Given the description of an element on the screen output the (x, y) to click on. 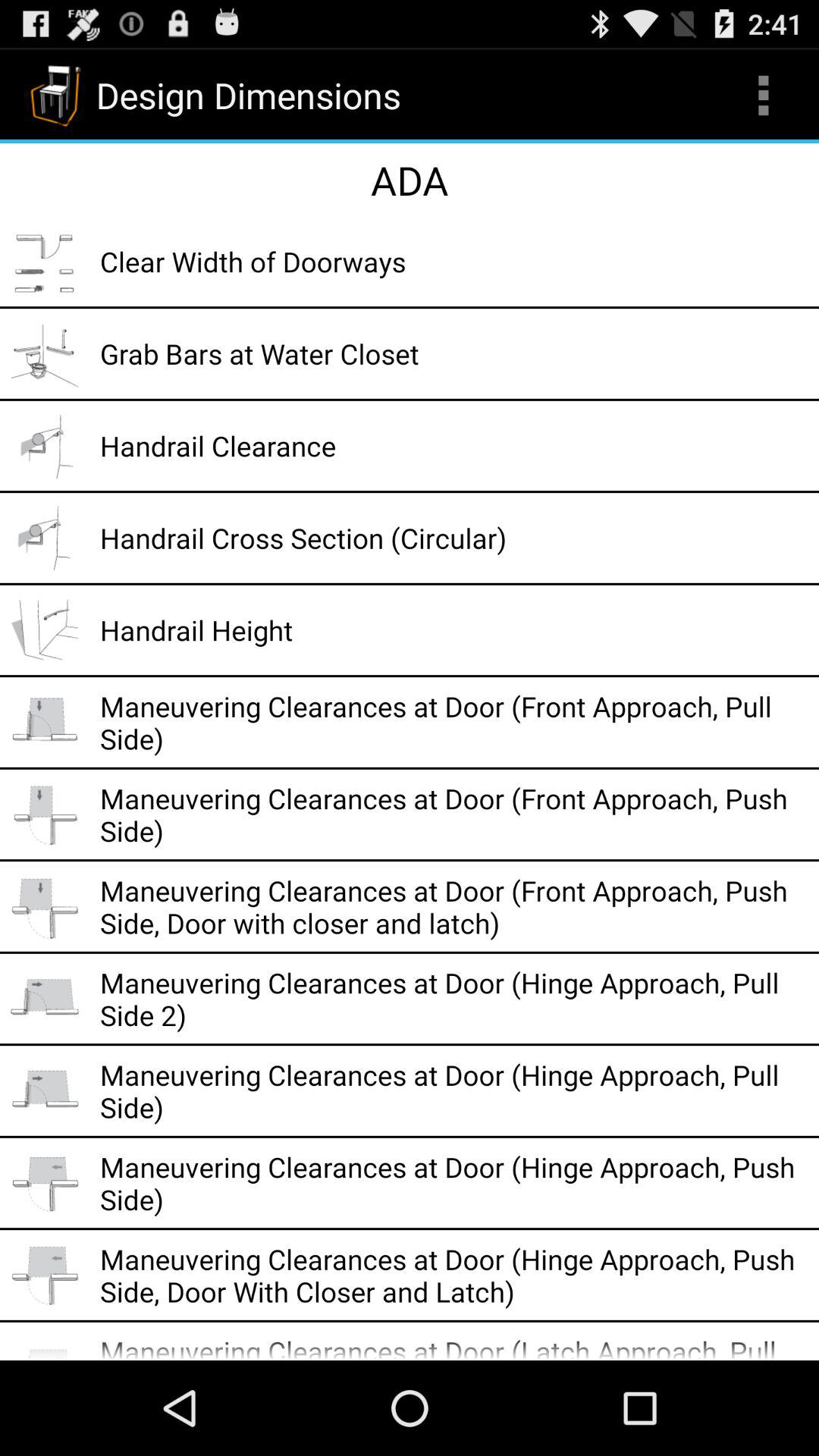
click the app above the ada icon (763, 95)
